Given the description of an element on the screen output the (x, y) to click on. 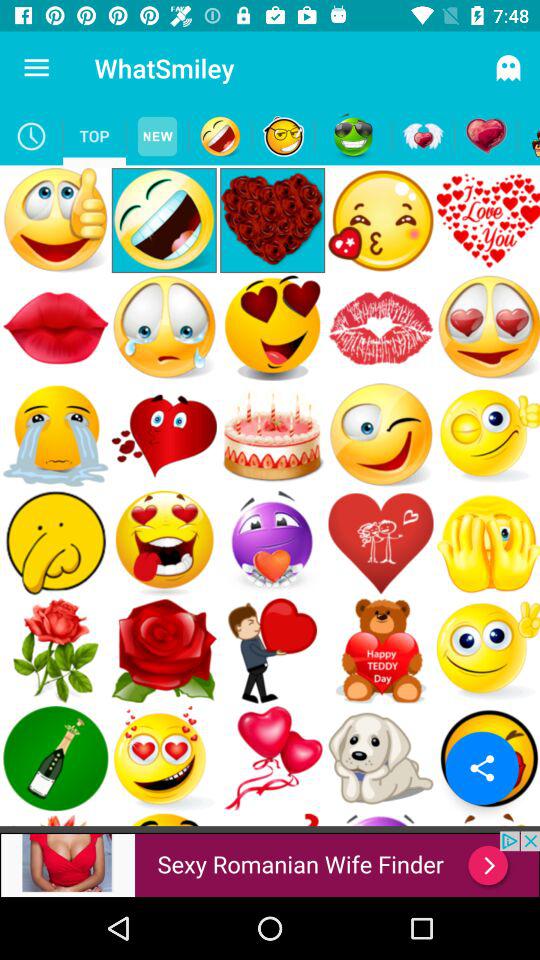
open advertisement (270, 864)
